Given the description of an element on the screen output the (x, y) to click on. 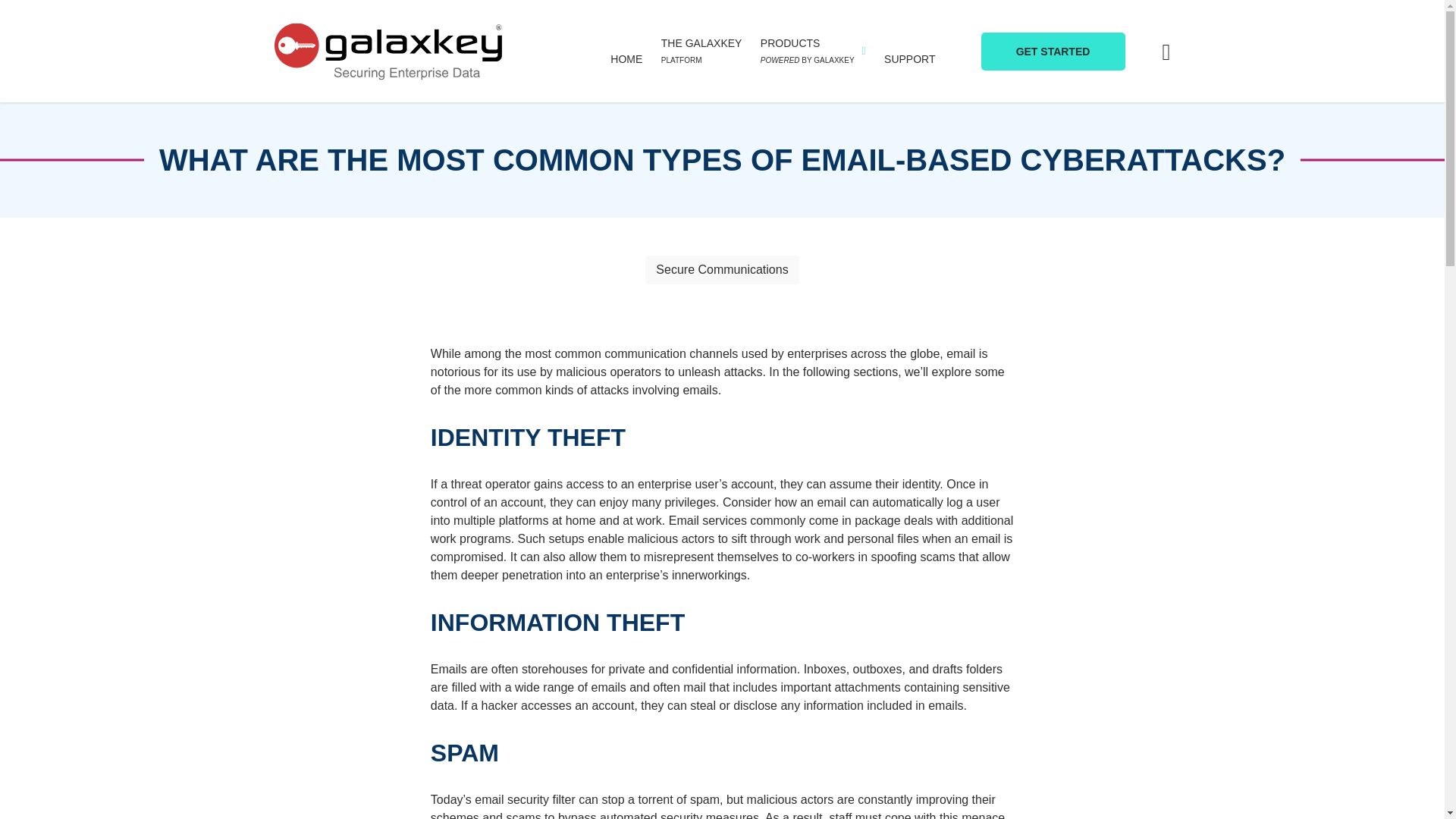
GET STARTED (1053, 50)
SUPPORT (908, 58)
HOME (701, 50)
